Given the description of an element on the screen output the (x, y) to click on. 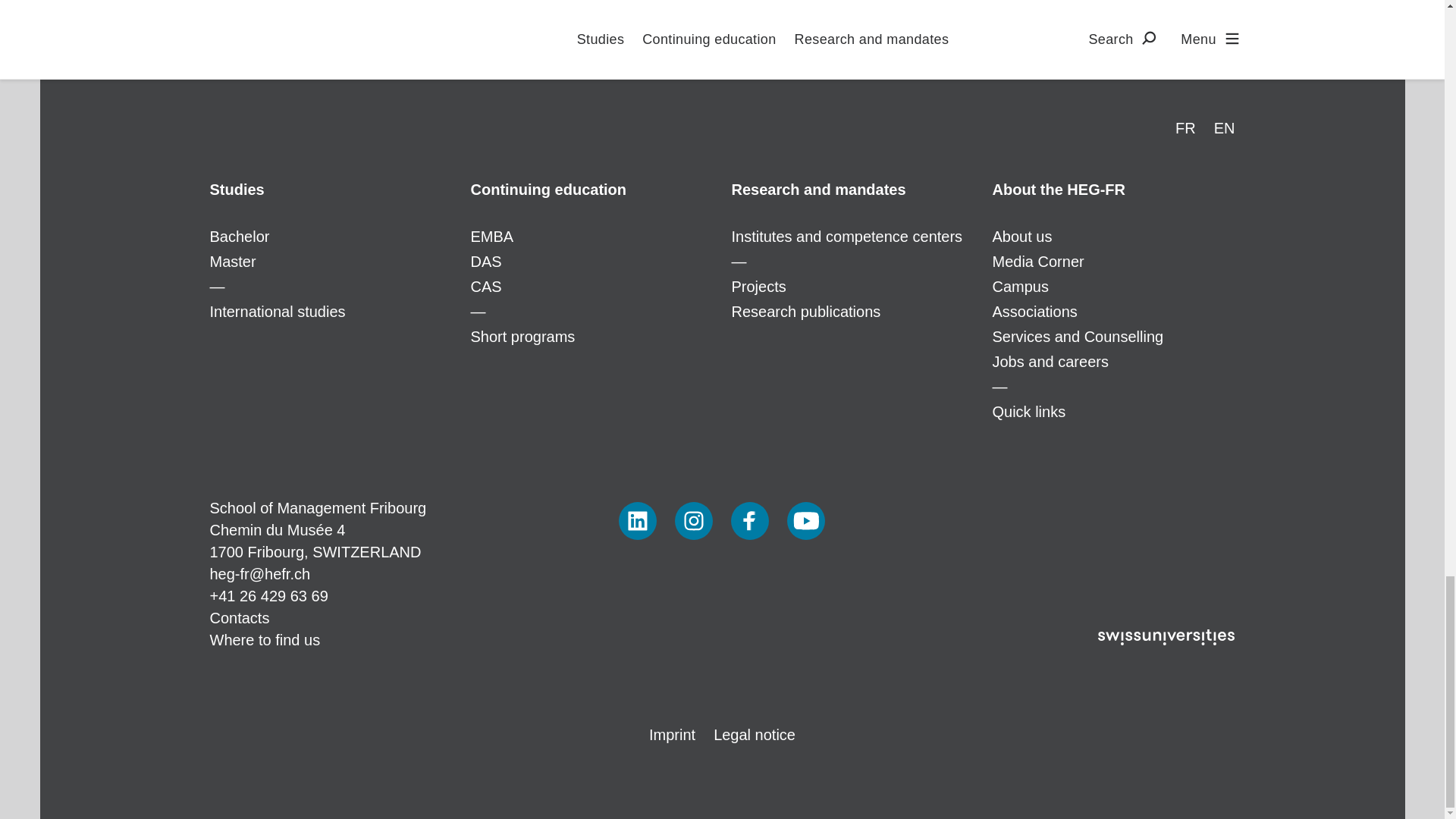
Follow us on Facebook (749, 520)
Follow us on LinkedIn (637, 520)
linkedin (637, 520)
Follow us on Instagram (694, 520)
Where to find us (264, 639)
Legal notice (753, 734)
youtube (806, 520)
Contacts (239, 617)
facebook (749, 520)
instagram (694, 520)
Follow us on YouTube (806, 520)
About us (1112, 189)
Imprint (672, 734)
